Given the description of an element on the screen output the (x, y) to click on. 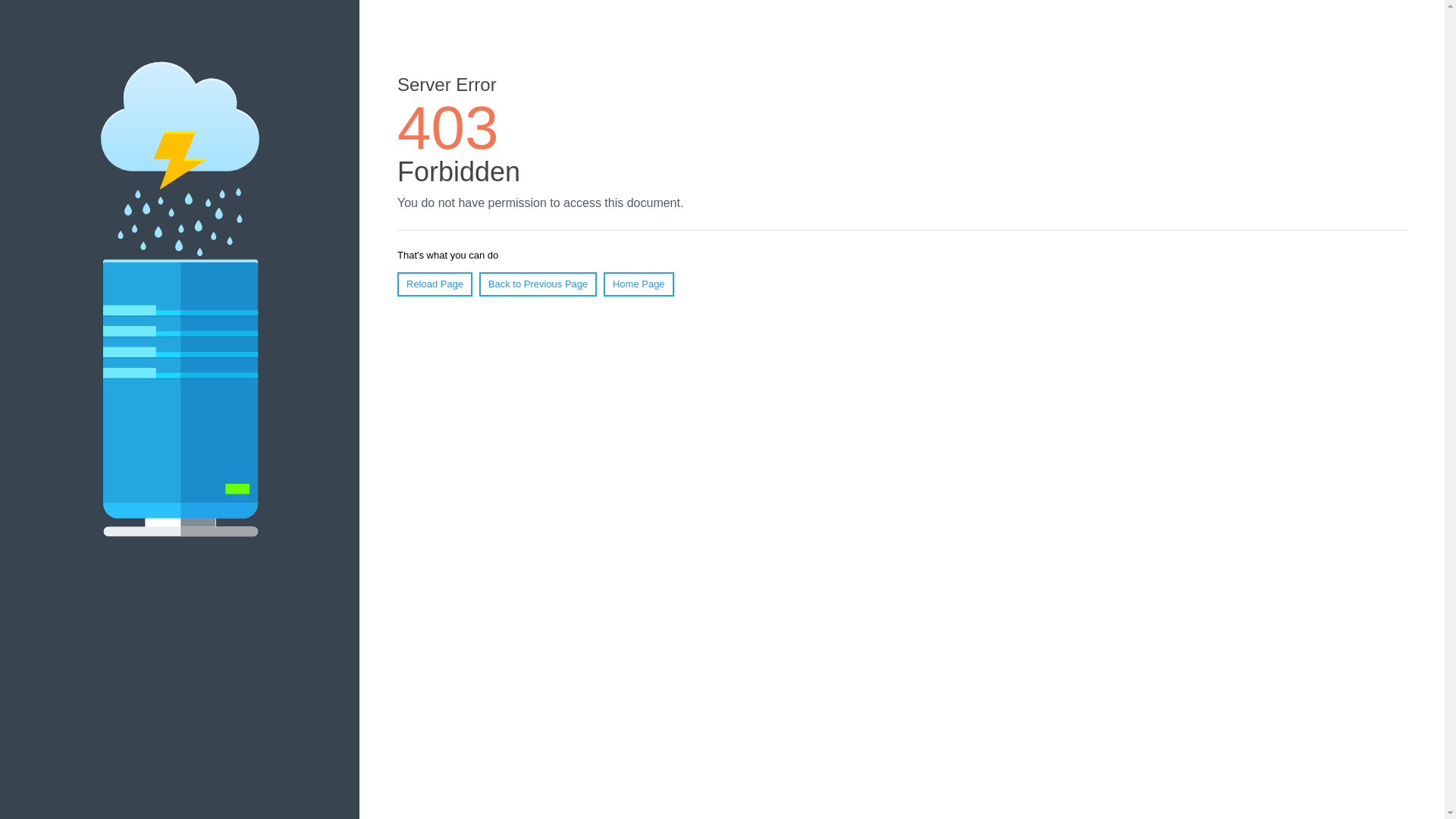
Back to Previous Page (537, 283)
Reload Page (434, 283)
Home Page (639, 283)
